Given the description of an element on the screen output the (x, y) to click on. 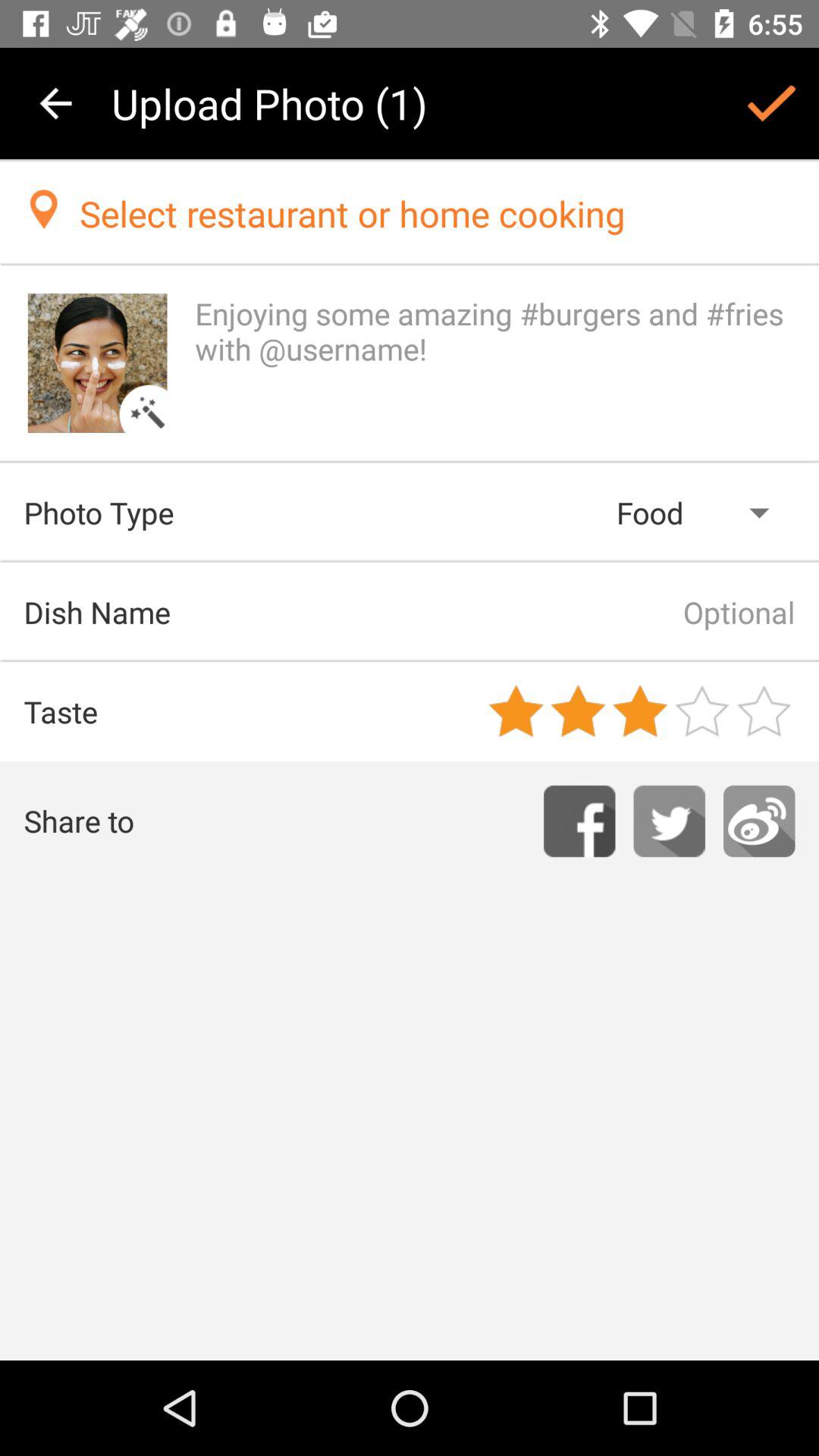
tap to share (759, 821)
